Given the description of an element on the screen output the (x, y) to click on. 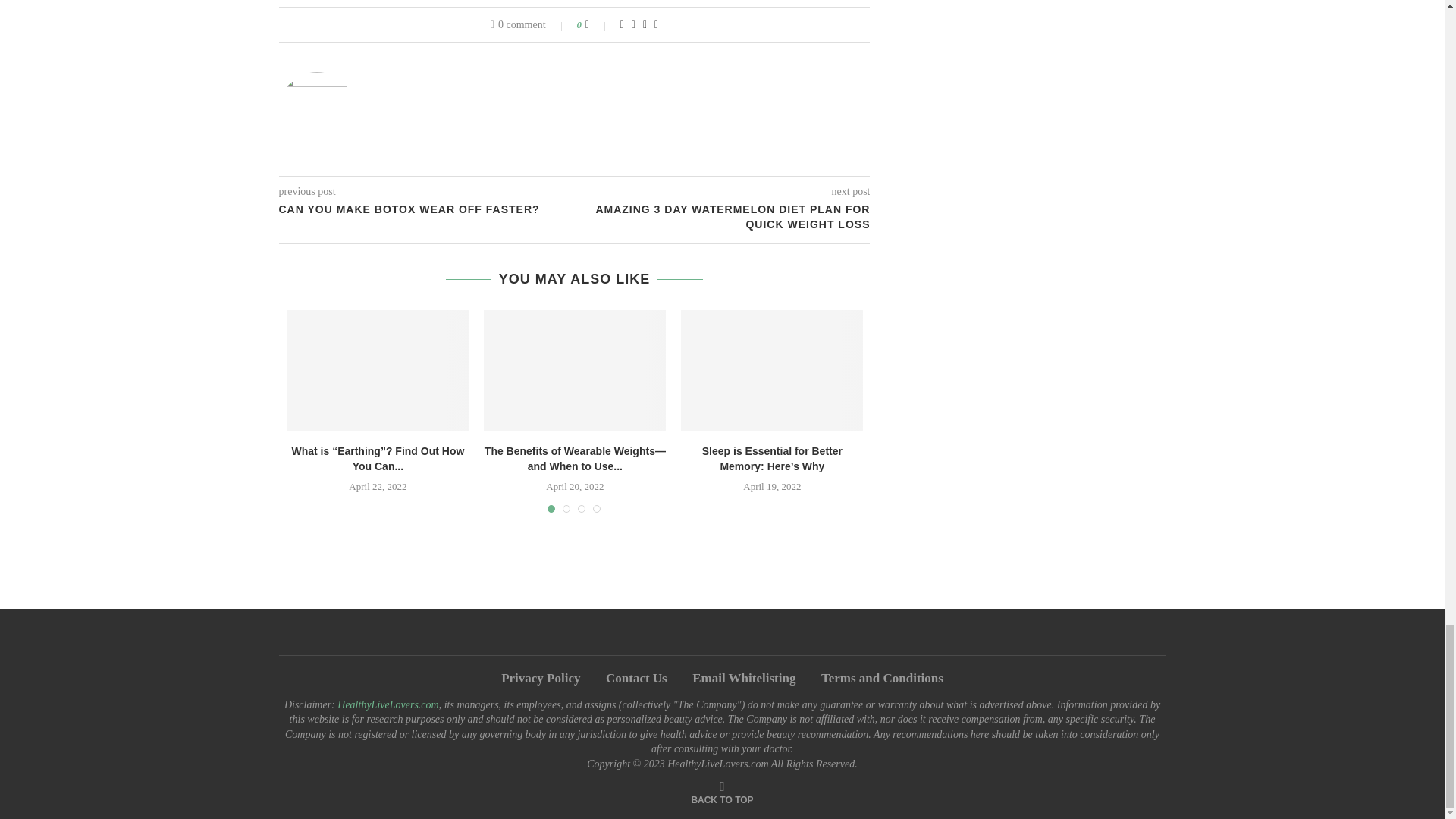
CAN YOU MAKE BOTOX WEAR OFF FASTER? (427, 209)
AMAZING 3 DAY WATERMELON DIET PLAN FOR QUICK WEIGHT LOSS (722, 216)
Like (597, 24)
